Given the description of an element on the screen output the (x, y) to click on. 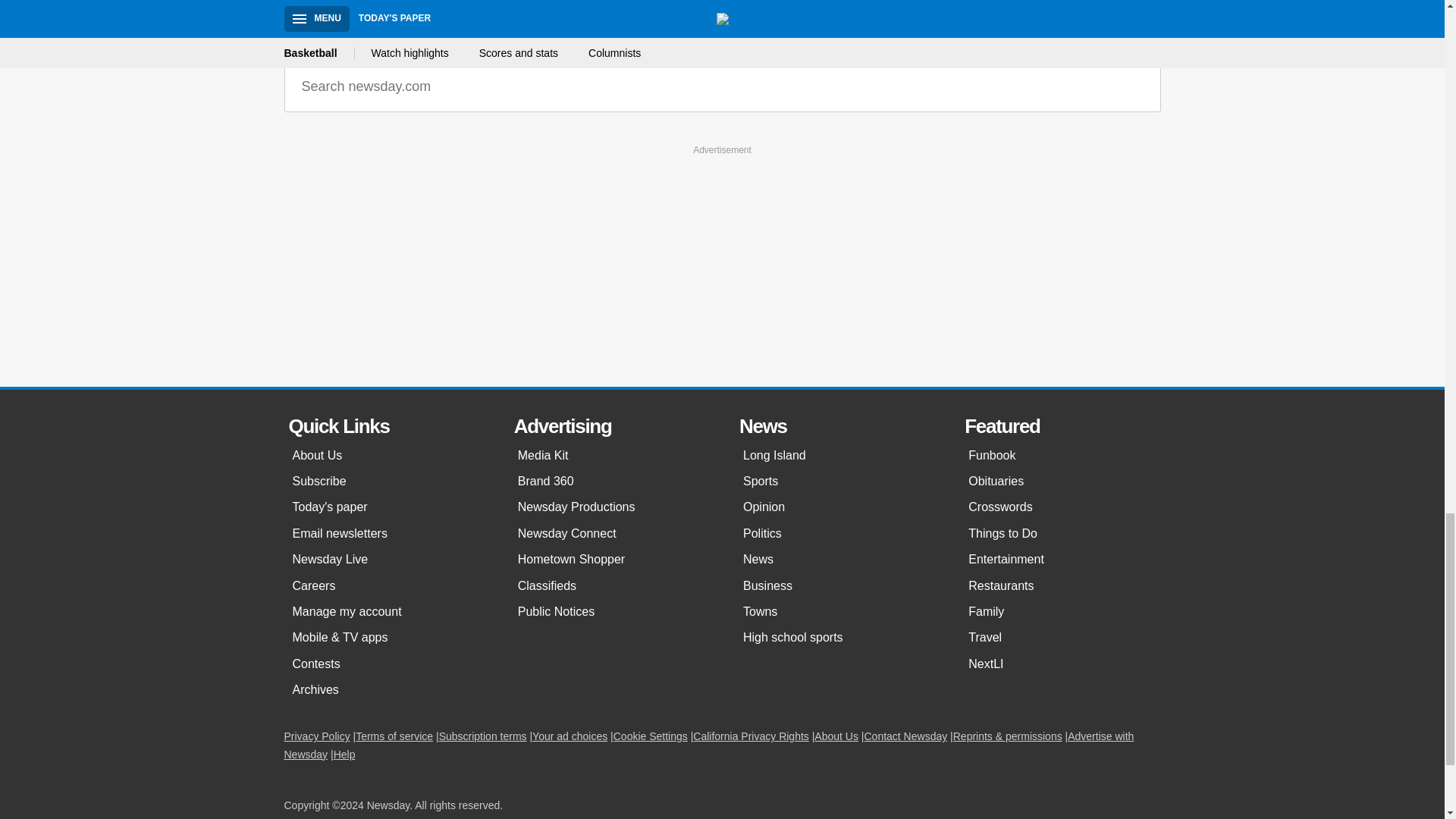
Subscribe (387, 481)
About Us (387, 455)
Today's paper (387, 507)
Search (1137, 86)
